Given the description of an element on the screen output the (x, y) to click on. 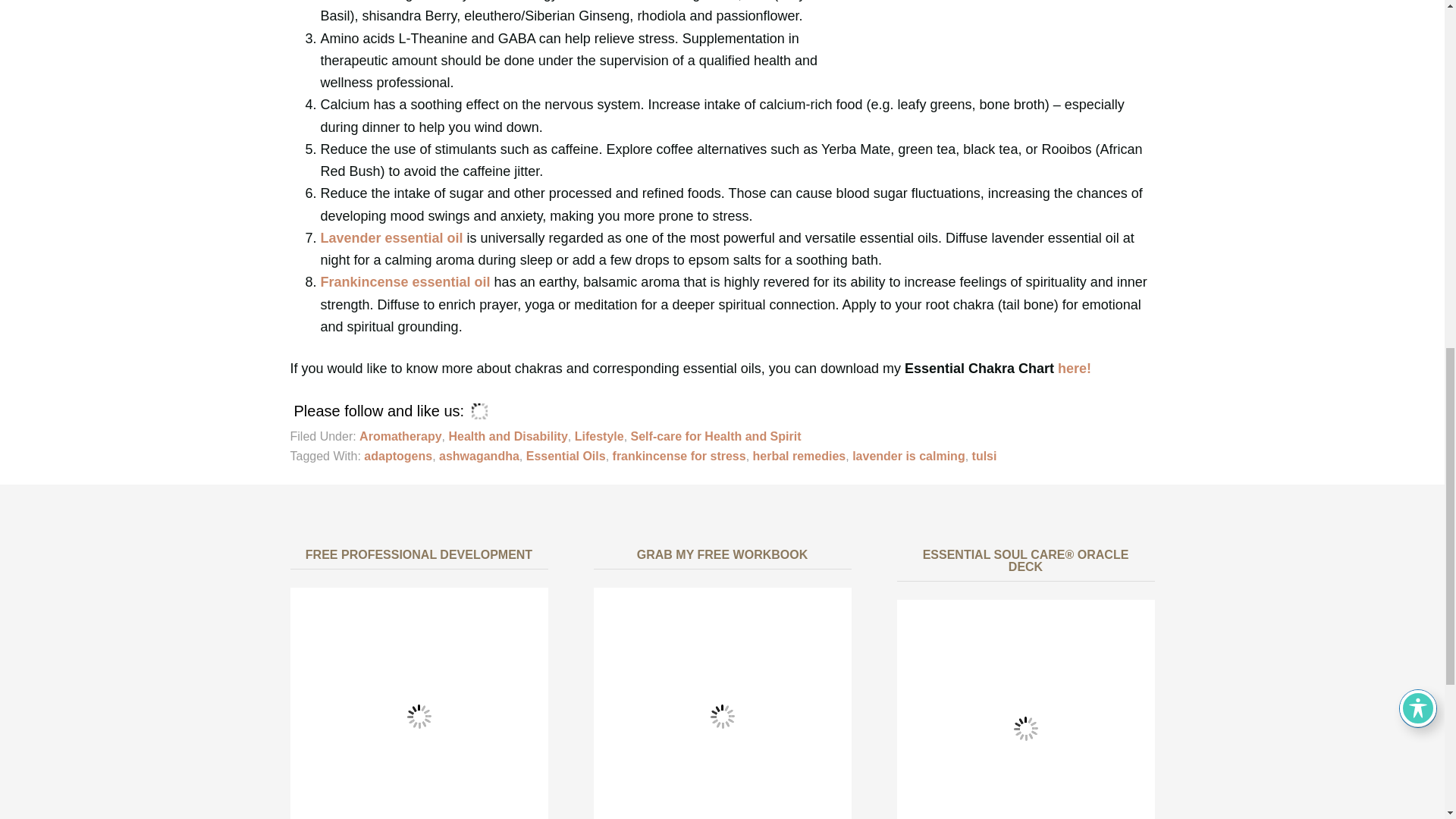
Health and Disability (507, 436)
tulsi (984, 455)
Essential Oils (565, 455)
Self-care for Health and Spirit (716, 436)
Lavender essential oil (391, 237)
Lifestyle (599, 436)
Aromatherapy (400, 436)
